Given the description of an element on the screen output the (x, y) to click on. 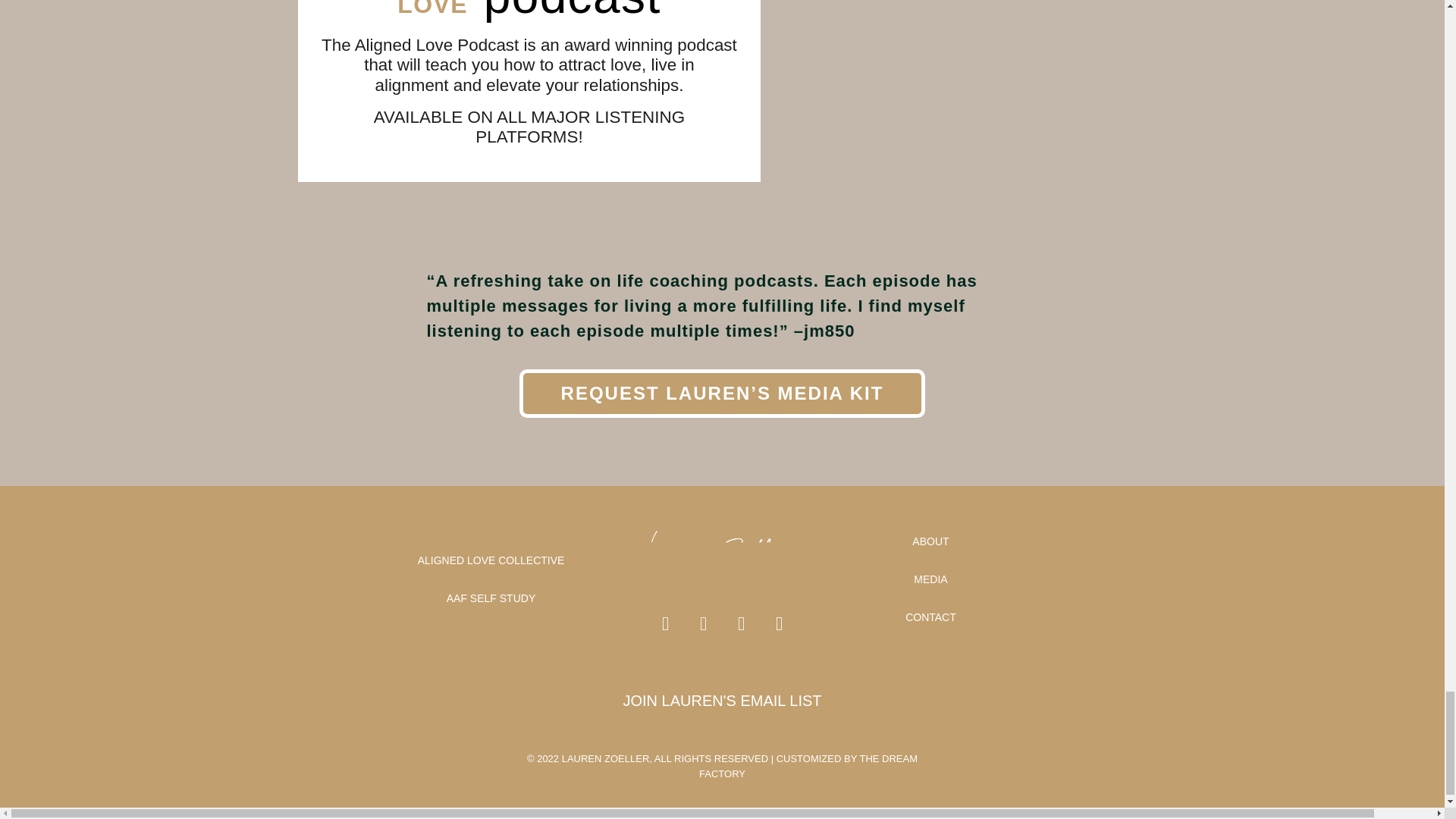
AAF SELF STUDY (491, 598)
ALIGNED LOVE COLLECTIVE (491, 560)
